Given the description of an element on the screen output the (x, y) to click on. 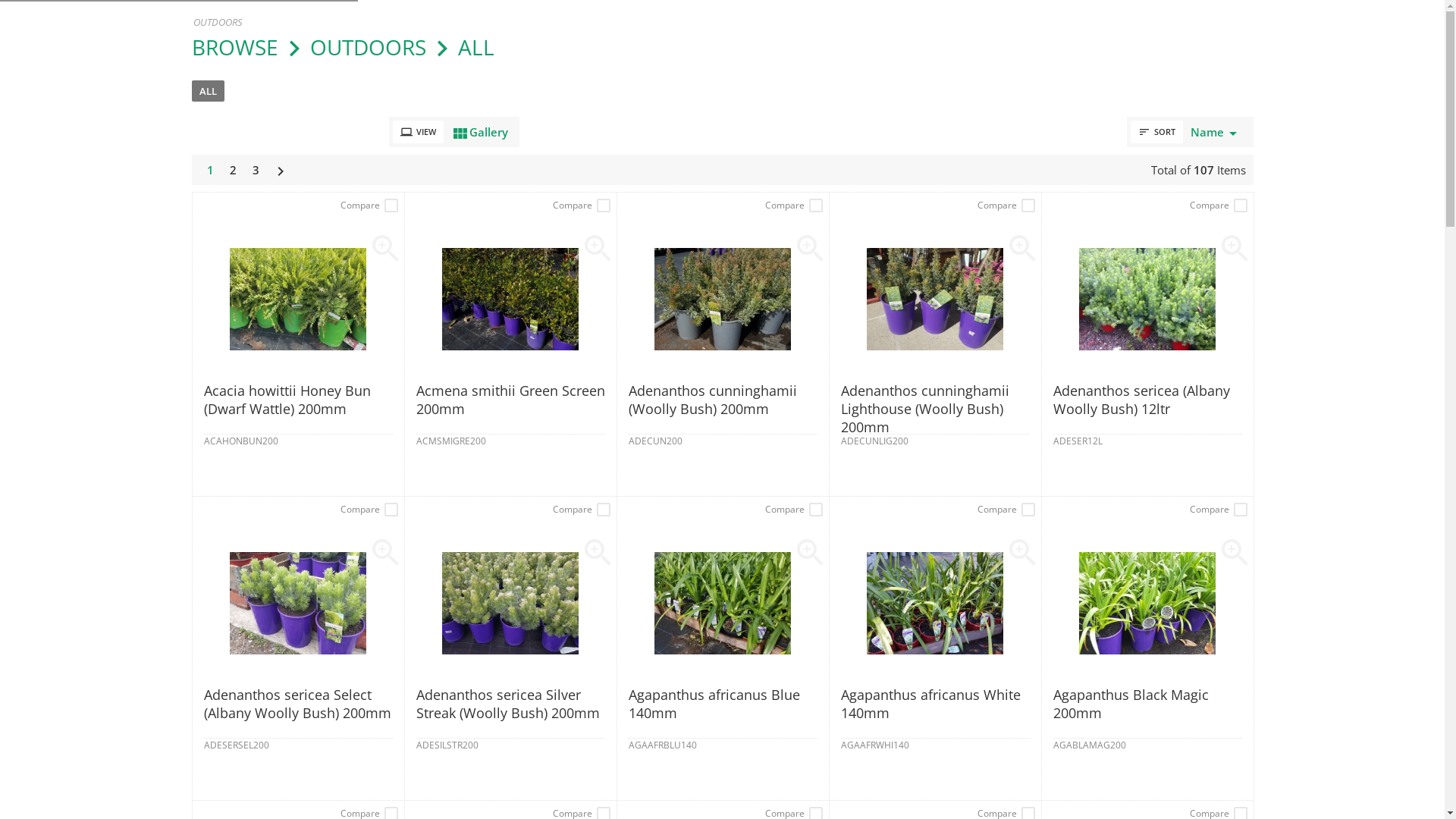
chevron_right Element type: text (279, 169)
Namearrow_drop_down Element type: text (1216, 131)
1 Element type: text (209, 169)
ALL Element type: text (207, 90)
2 Element type: text (232, 169)
Acmena smithii Green Screen 200mm Element type: text (509, 407)
Adenanthos sericea Silver Streak (Woolly Bush) 200mm Element type: text (509, 711)
Acacia howittii Honey Bun (Dwarf Wattle) 200mm Element type: text (297, 407)
Adenanthos sericea (Albany Woolly Bush) 12ltr Element type: text (1146, 407)
Agapanthus africanus White 140mm Element type: text (934, 711)
Agapanthus Black Magic 200mm Element type: text (1146, 711)
Adenanthos cunninghamii (Woolly Bush) 200mm Element type: text (721, 407)
Agapanthus africanus Blue 140mm Element type: text (721, 711)
Adenanthos cunninghamii Lighthouse (Woolly Bush) 200mm Element type: text (934, 407)
BROWSE Element type: text (234, 46)
3 Element type: text (255, 169)
Adenanthos sericea Select (Albany Woolly Bush) 200mm Element type: text (297, 711)
view_moduleGallery Element type: text (478, 131)
